Given the description of an element on the screen output the (x, y) to click on. 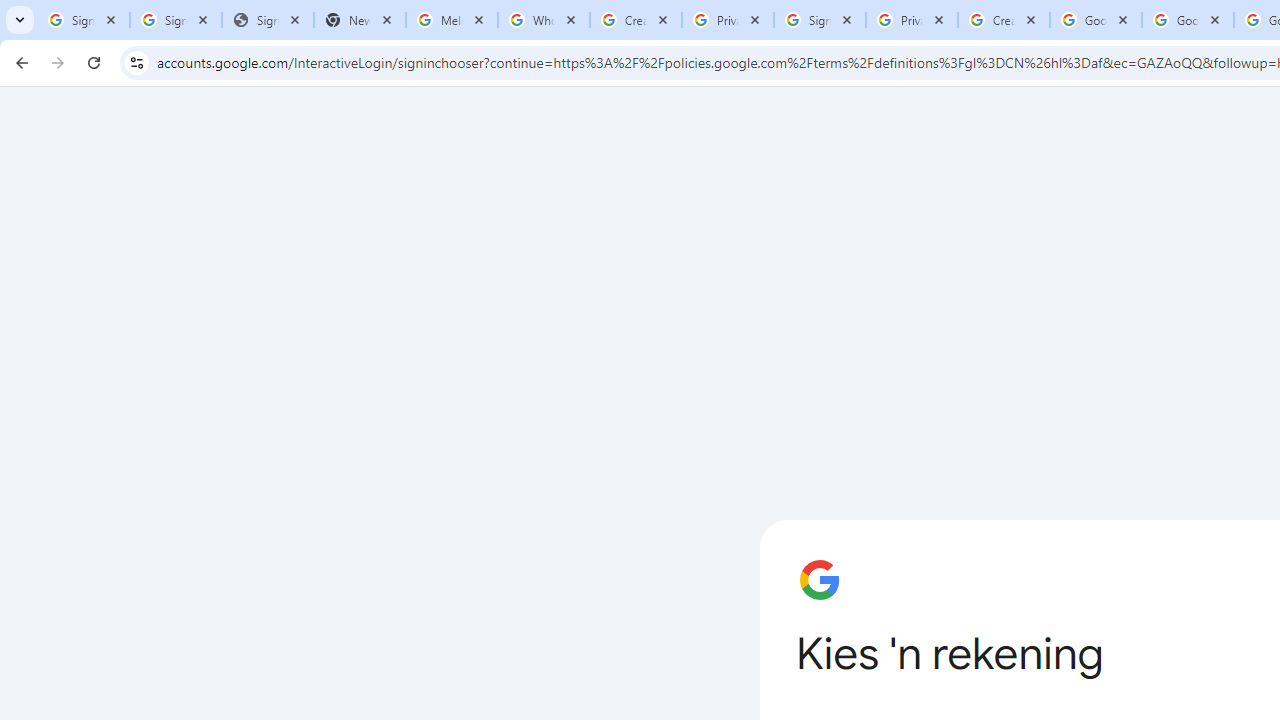
Sign in - Google Accounts (820, 20)
